Given the description of an element on the screen output the (x, y) to click on. 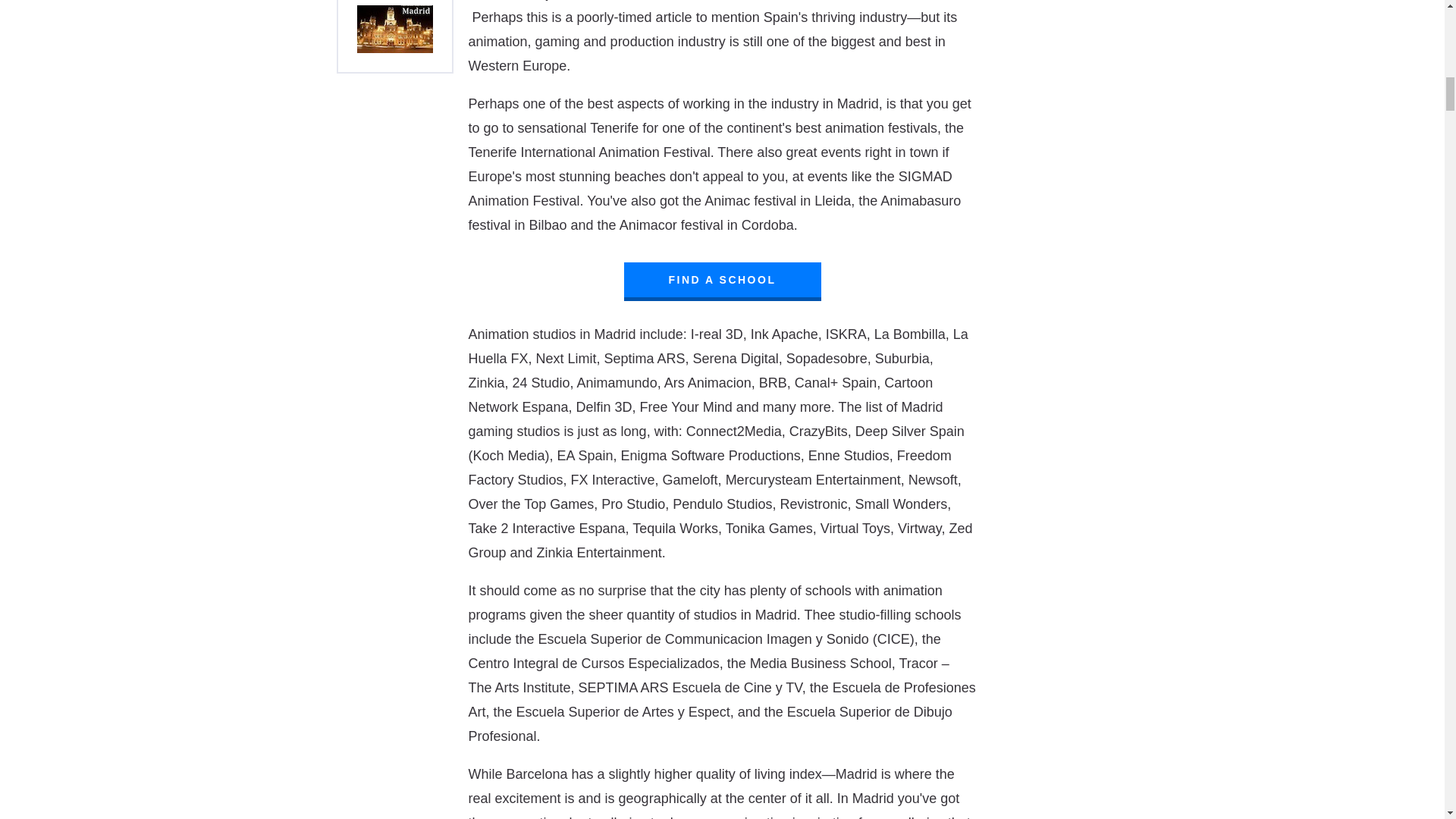
FIND A SCHOOL (722, 279)
